Given the description of an element on the screen output the (x, y) to click on. 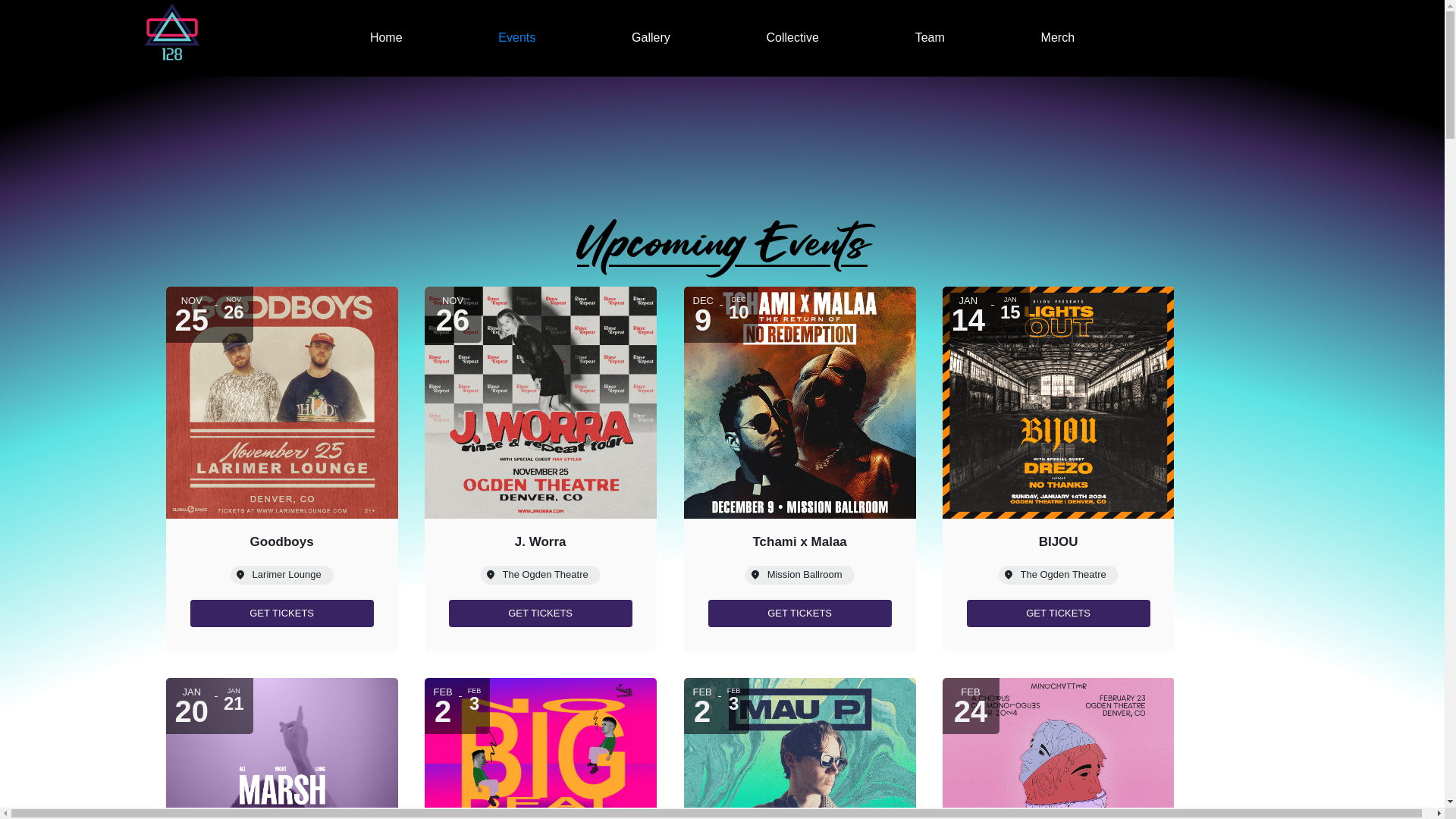
Collective Element type: text (792, 37)
Team Element type: text (929, 37)
Merch Element type: text (1057, 37)
Gallery Element type: text (650, 37)
Home Element type: text (386, 37)
Events Element type: text (516, 37)
